Given the description of an element on the screen output the (x, y) to click on. 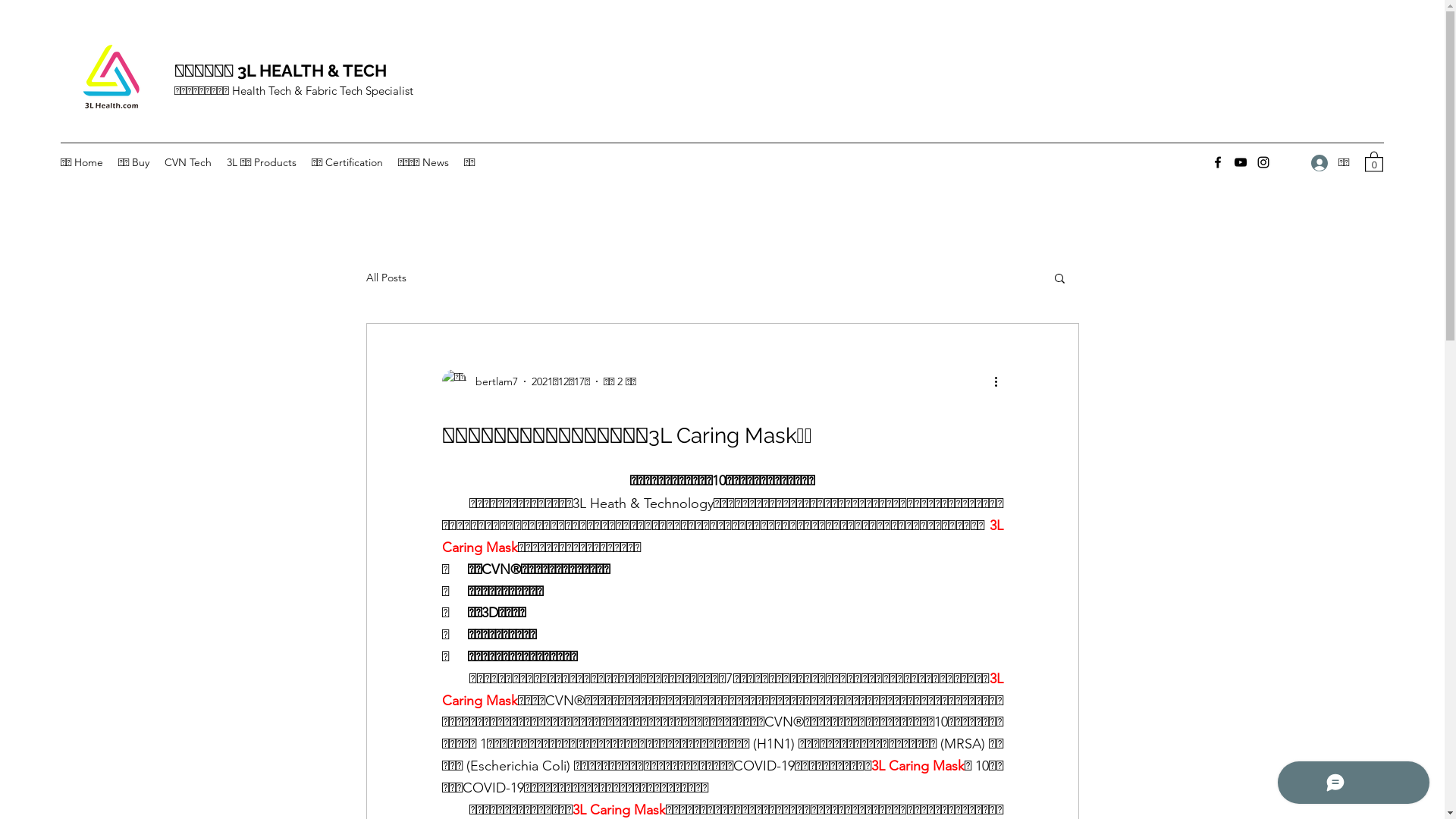
CVN Tech Element type: text (187, 161)
All Posts Element type: text (385, 277)
3L HEALTH & TECH  Element type: text (313, 70)
0 Element type: text (1374, 161)
bertlam7 Element type: text (479, 381)
